Given the description of an element on the screen output the (x, y) to click on. 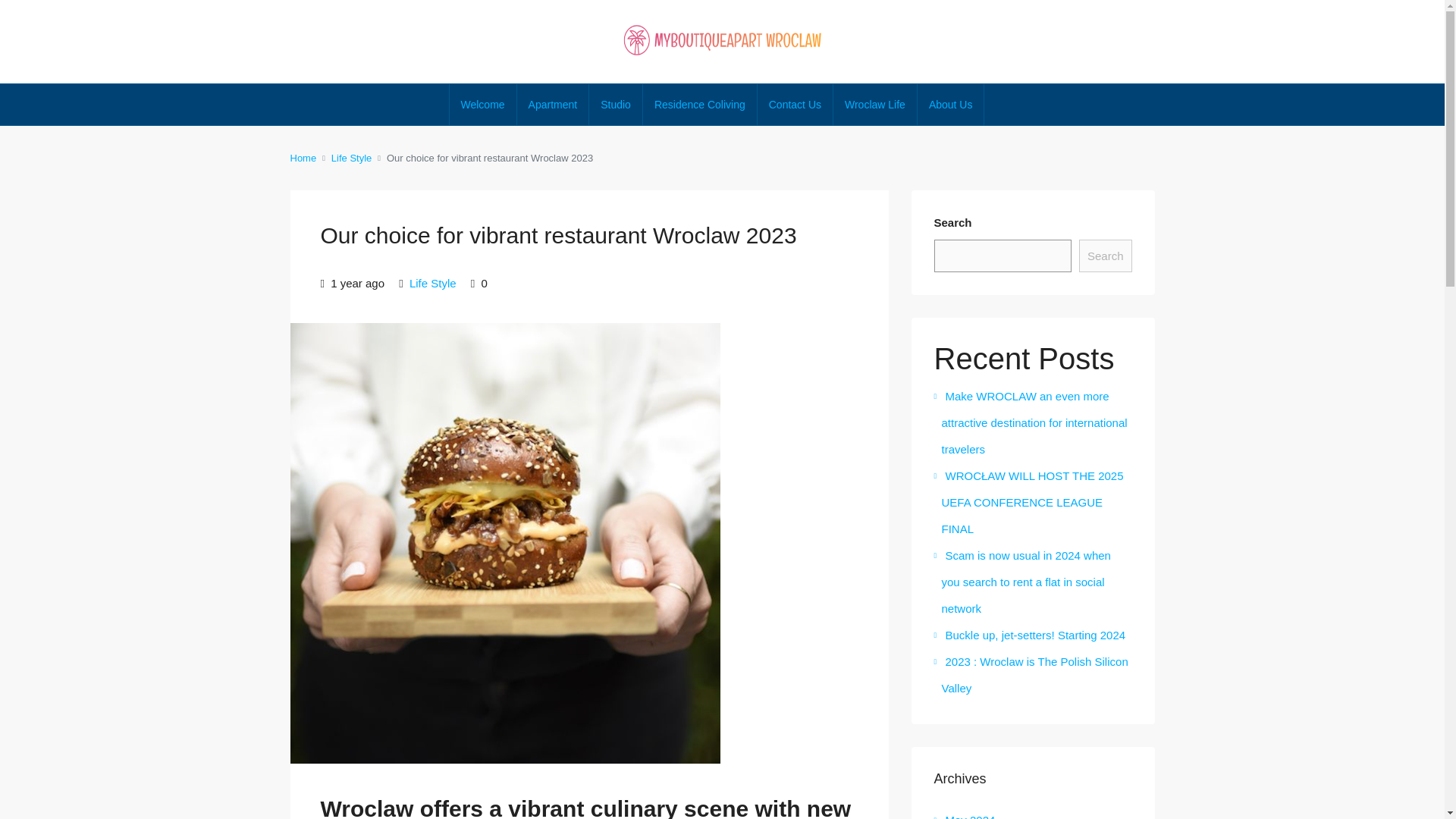
Residence Coliving (700, 104)
Studio (615, 104)
Life Style (433, 282)
Life Style (351, 157)
Welcome (482, 104)
About Us (950, 104)
Wroclaw Life (874, 104)
